Given the description of an element on the screen output the (x, y) to click on. 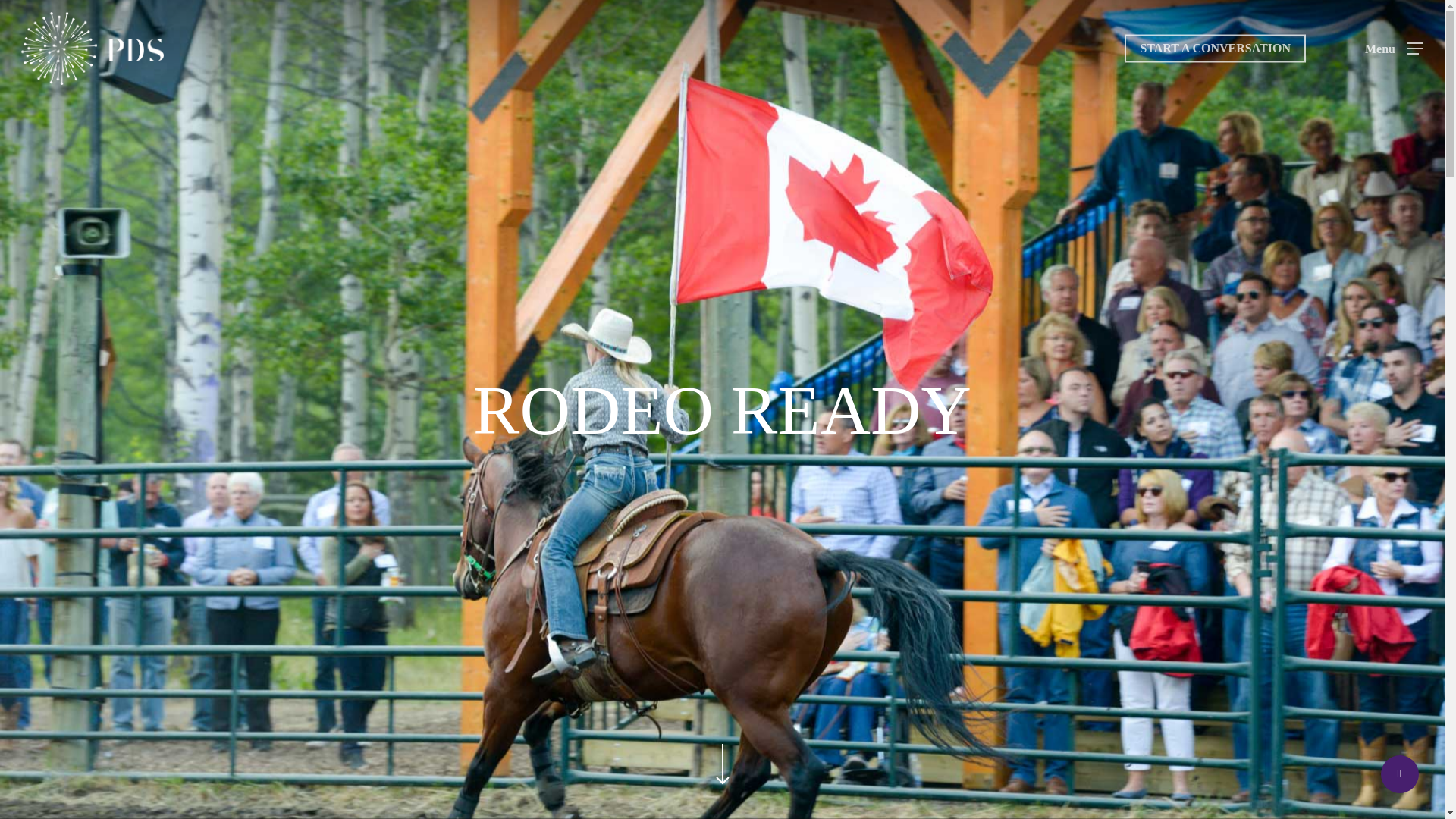
START A CONVERSATION (1215, 48)
Disclaimer (289, 794)
Menu (1394, 48)
Privacy Policy (227, 794)
Menu (1415, 7)
Subscribe (573, 658)
Subscribe (573, 658)
Photo Credits (349, 794)
